Given the description of an element on the screen output the (x, y) to click on. 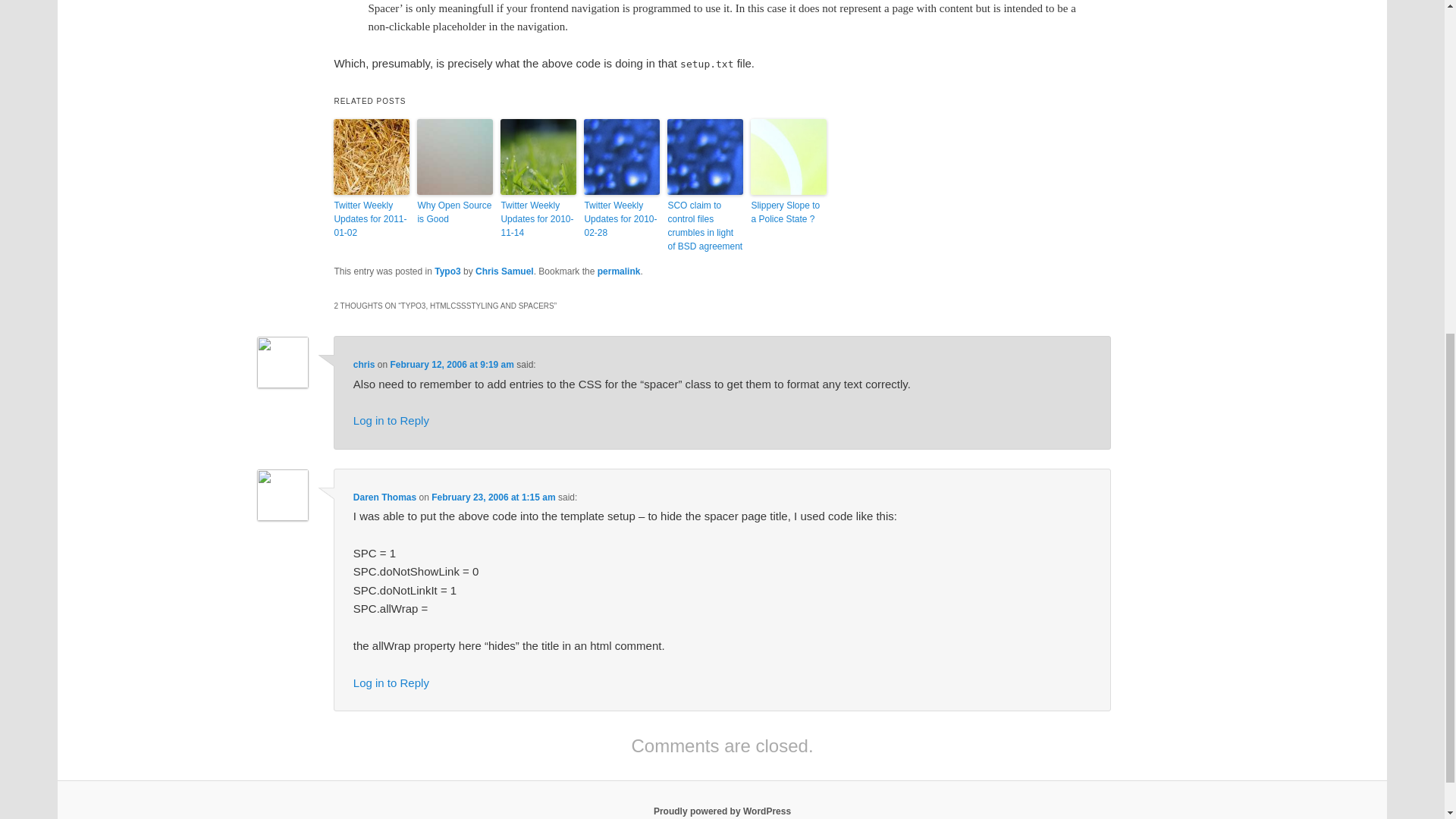
February 23, 2006 at 1:15 am (492, 497)
Daren Thomas (384, 497)
permalink (618, 271)
Slippery Slope to a Police State ? (789, 212)
Proudly powered by WordPress (721, 810)
Chris Samuel (505, 271)
Log in to Reply (391, 682)
Twitter Weekly Updates for 2011-01-02 (371, 219)
Log in to Reply (391, 420)
Semantic Personal Publishing Platform (721, 810)
Typo3 (446, 271)
Twitter Weekly Updates for 2010-02-28 (621, 219)
Permalink to Typo3, htmlcssstyling and spacers (618, 271)
February 12, 2006 at 9:19 am (451, 364)
